Given the description of an element on the screen output the (x, y) to click on. 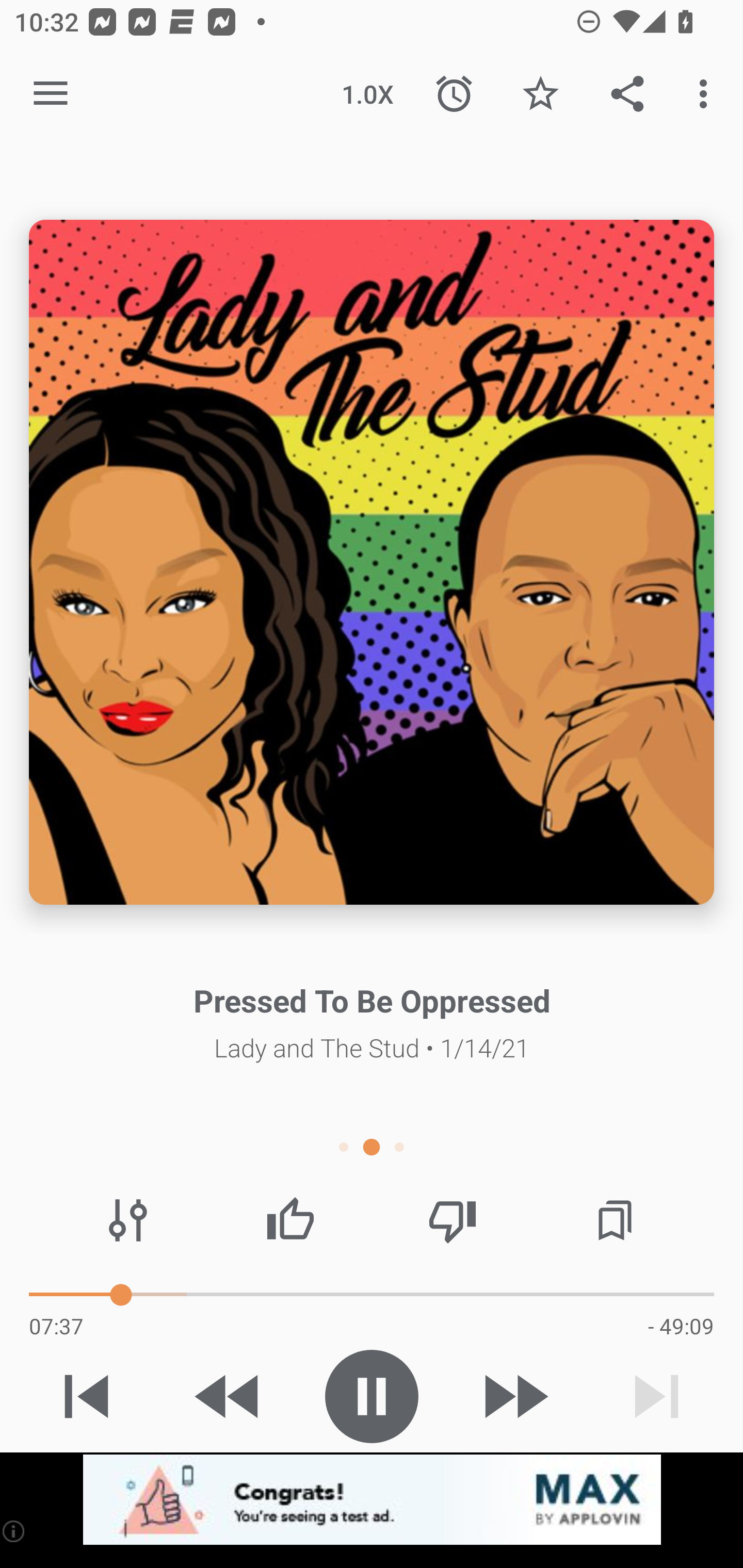
Open navigation sidebar (50, 93)
1.0X (366, 93)
Sleep Timer (453, 93)
Favorite (540, 93)
Share (626, 93)
More options (706, 93)
Episode description (371, 561)
Audio effects (127, 1220)
Thumbs up (290, 1220)
Thumbs down (452, 1220)
Chapters / Bookmarks (614, 1220)
- 49:09 (680, 1325)
Previous track (86, 1395)
Skip 15s backward (228, 1395)
Play / Pause (371, 1395)
Skip 30s forward (513, 1395)
Next track (656, 1395)
app-monetization (371, 1500)
(i) (14, 1531)
